Given the description of an element on the screen output the (x, y) to click on. 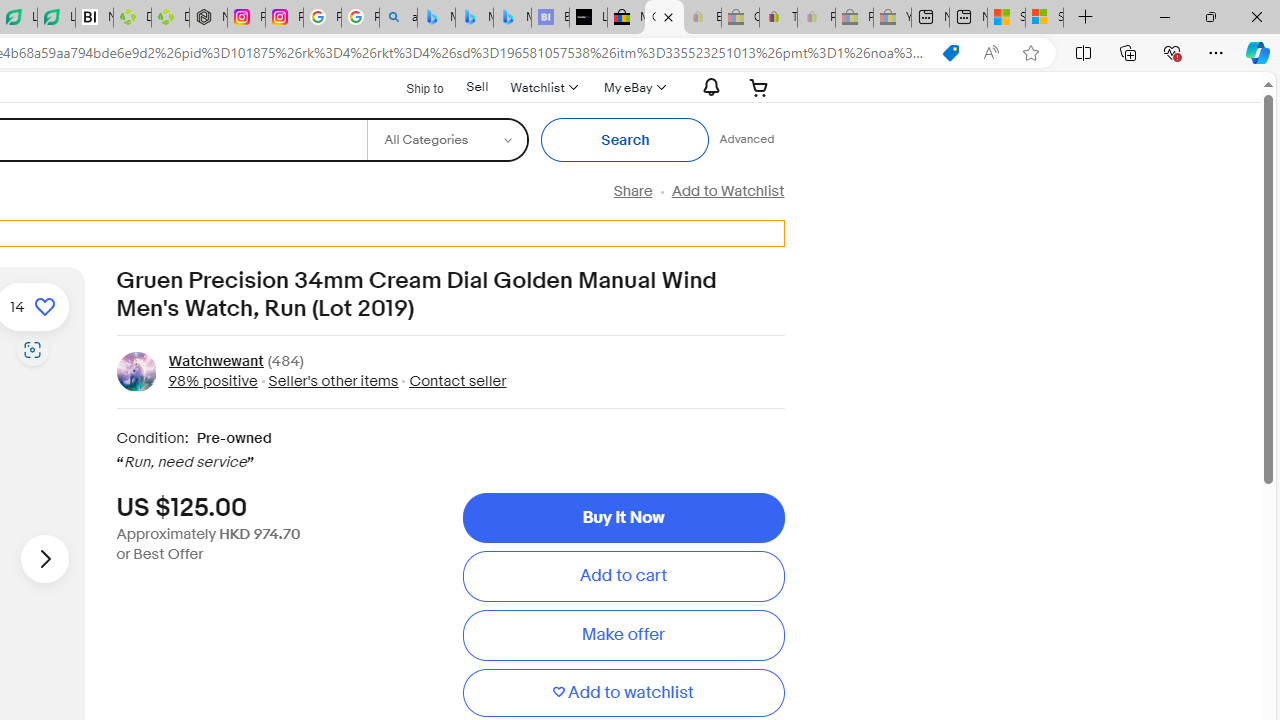
Watchwewant (215, 361)
Class: ux-action (136, 371)
Contact seller (457, 380)
98% positive (212, 380)
Your shopping cart (759, 87)
98% positive (212, 380)
Watchlist (543, 87)
Expand Cart (759, 87)
Payments Terms of Use | eBay.com - Sleeping (815, 17)
